Given the description of an element on the screen output the (x, y) to click on. 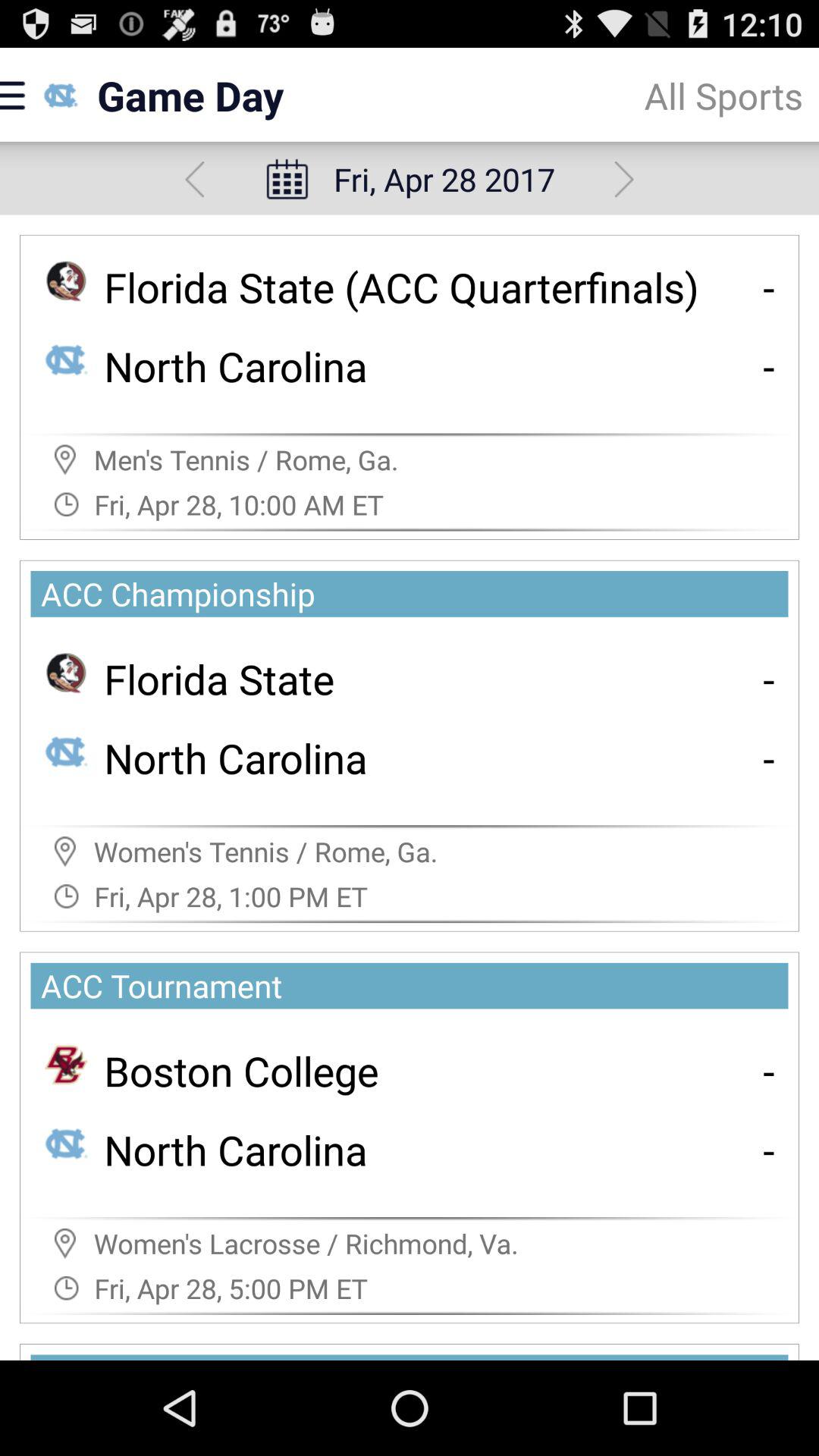
scroll until - icon (768, 1149)
